Given the description of an element on the screen output the (x, y) to click on. 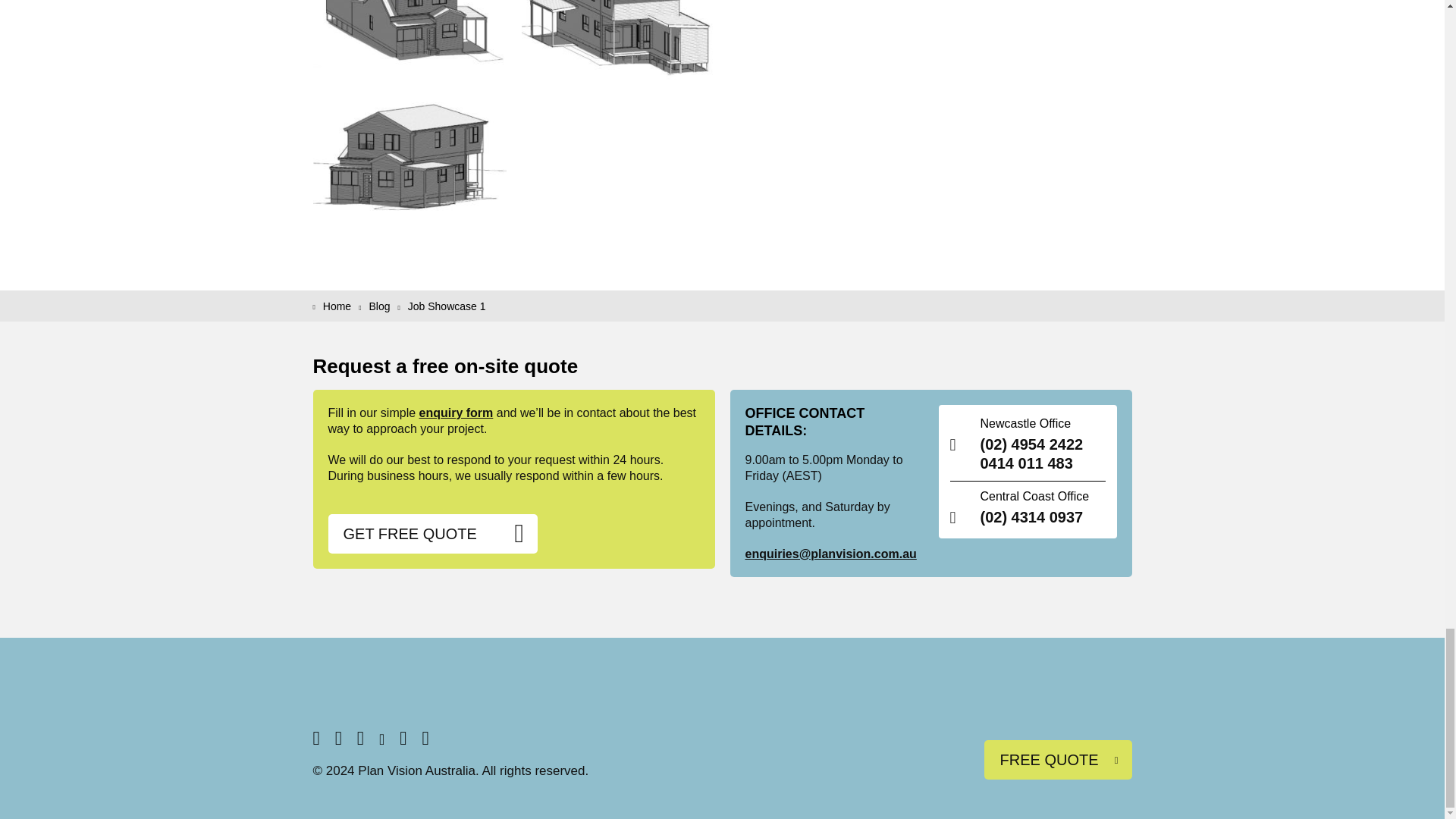
Home (337, 306)
enquiry form (456, 412)
GET FREE QUOTE (432, 533)
Blog (383, 306)
